Given the description of an element on the screen output the (x, y) to click on. 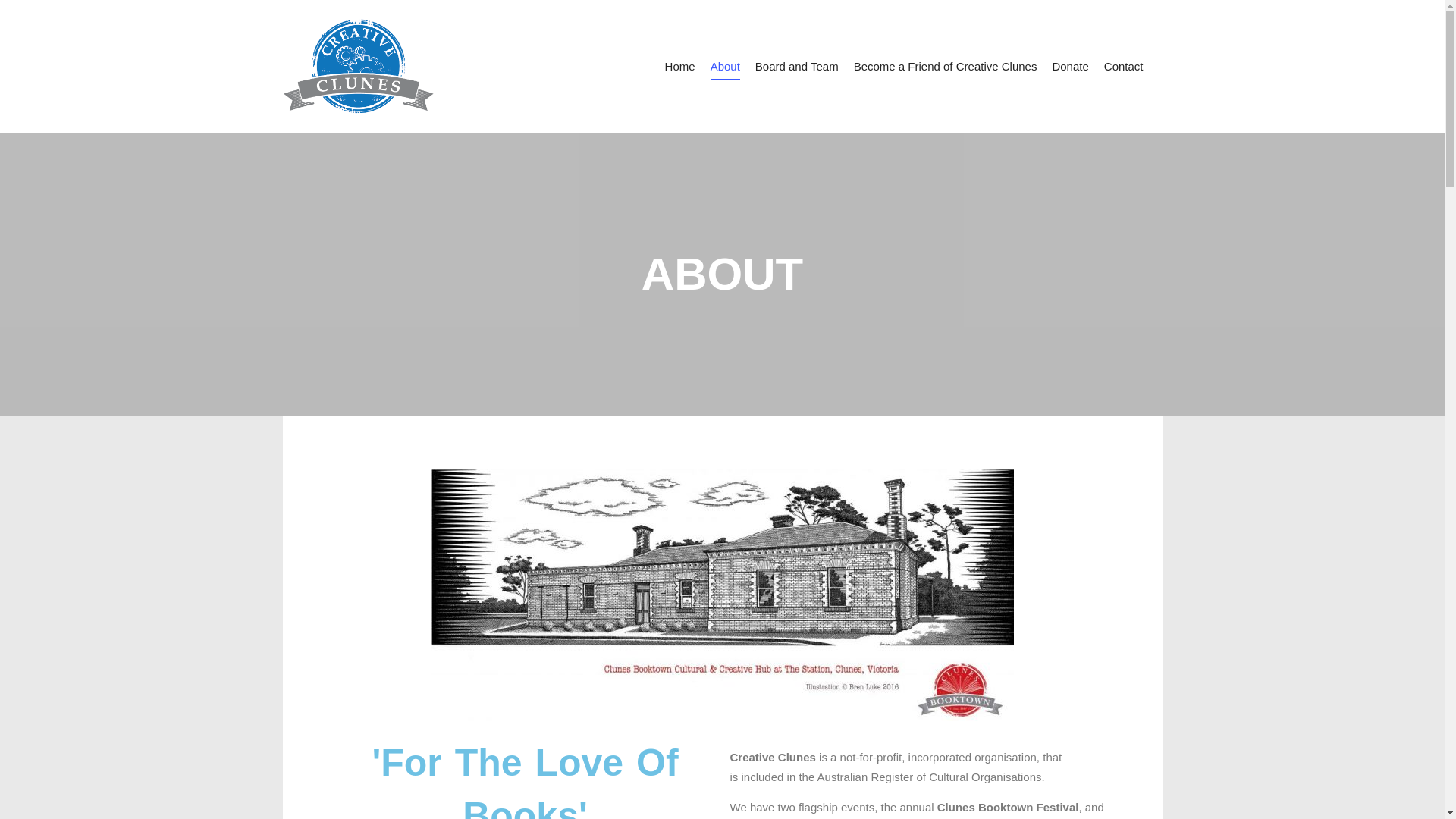
Creative Clunes (357, 66)
Board and Team (796, 66)
Contact (1123, 66)
Home (680, 66)
Become a Friend of Creative Clunes (945, 66)
Donate (1069, 66)
About (725, 66)
